Given the description of an element on the screen output the (x, y) to click on. 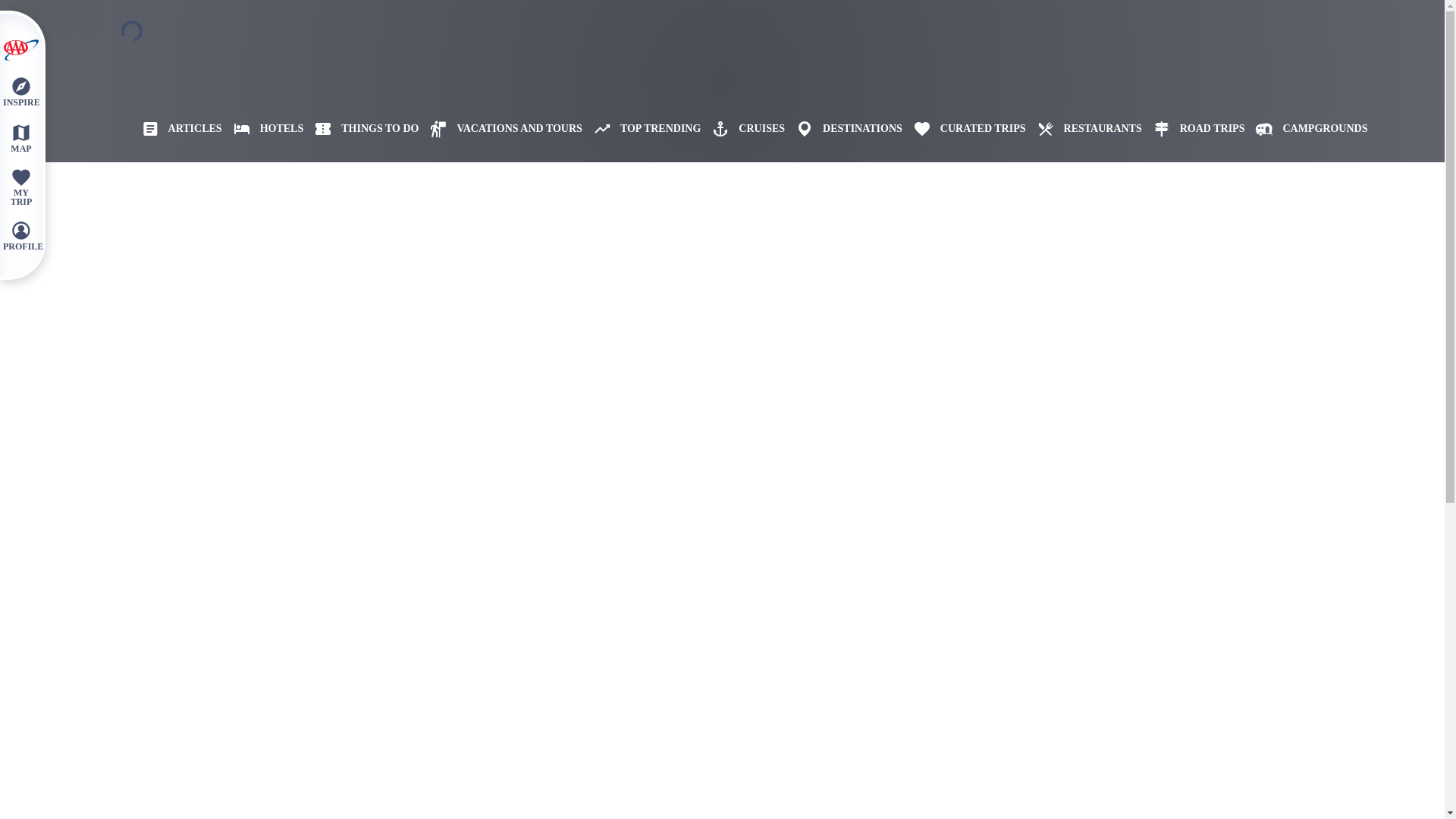
CAMPGROUNDS (1305, 128)
ARTICLES (176, 128)
OPEN CLUB MENU (20, 49)
CURATED TRIPS (964, 128)
PROFILE (20, 235)
THINGS TO DO (360, 128)
DESTINATIONS (843, 128)
MY TRIP (20, 186)
CRUISES (742, 128)
HOTELS (263, 128)
ROAD TRIPS (1192, 128)
INSPIRE (20, 91)
MAP (20, 137)
RESTAURANTS (1083, 128)
VACATIONS AND TOURS (499, 128)
